Given the description of an element on the screen output the (x, y) to click on. 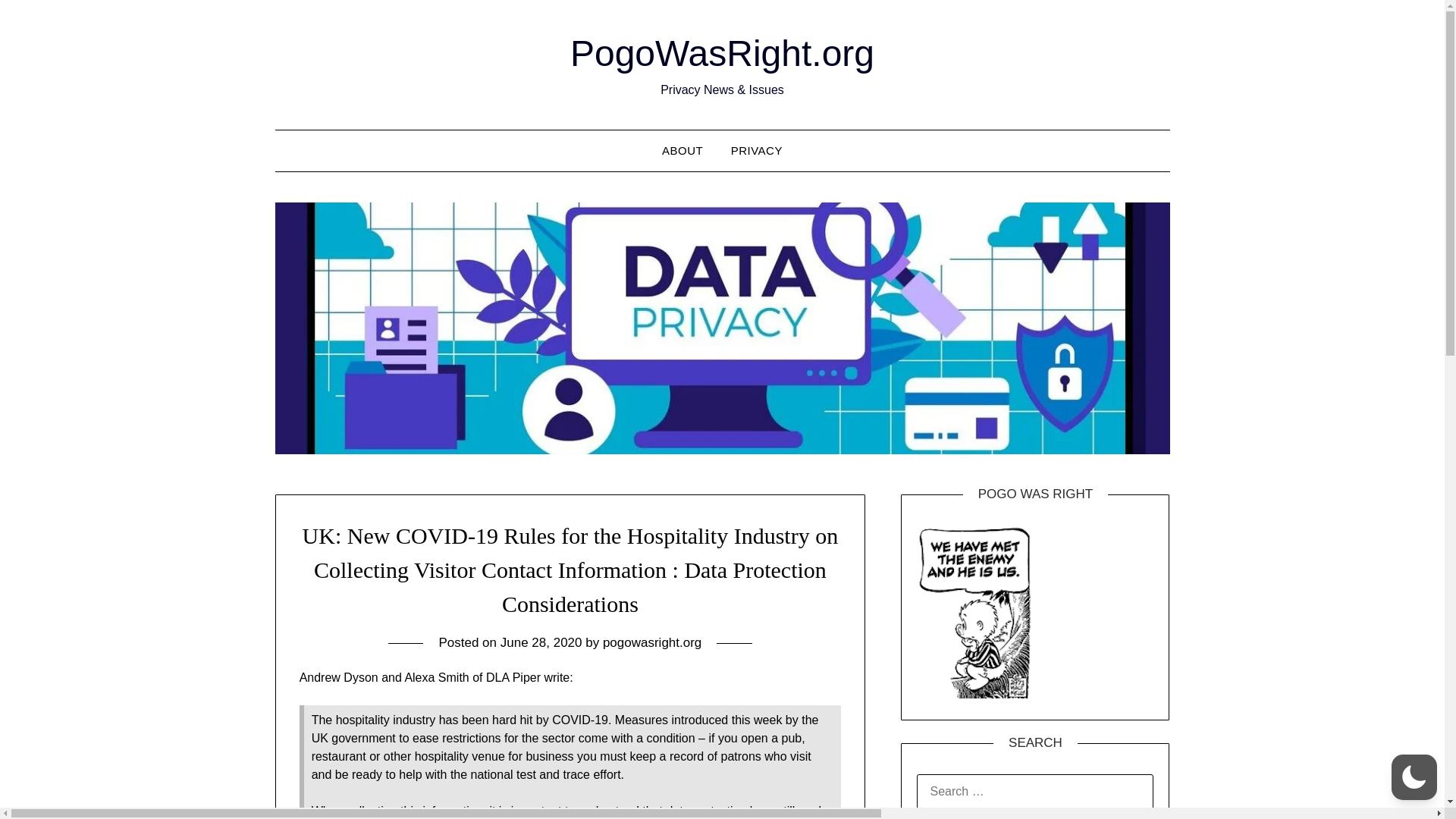
ABOUT (681, 150)
June 28, 2020 (541, 642)
PogoWasRight.org (722, 53)
pogowasright.org (651, 642)
Search (38, 22)
PRIVACY (756, 150)
